Given the description of an element on the screen output the (x, y) to click on. 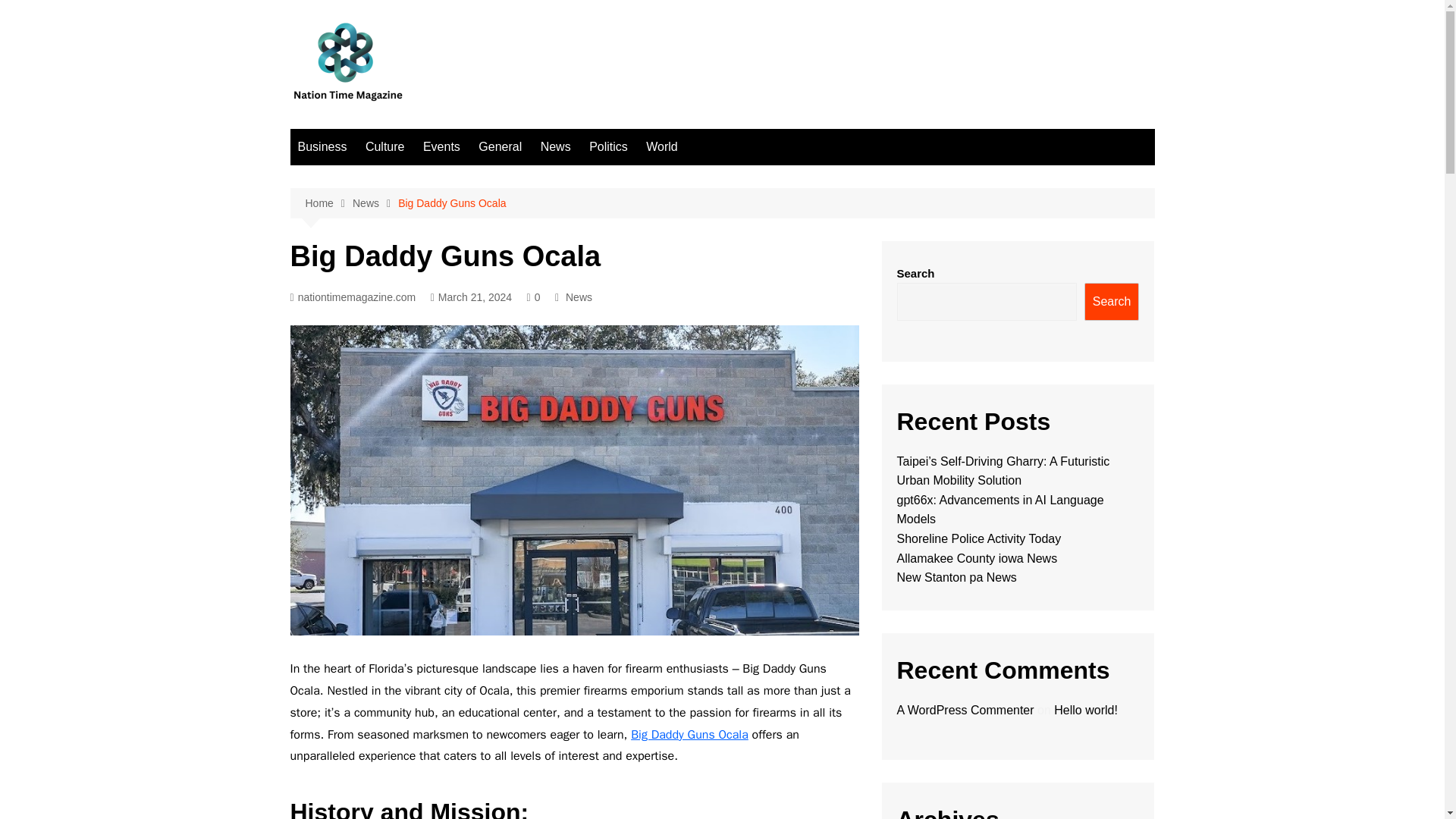
Big Daddy Guns Ocala (689, 734)
General (499, 146)
nationtimemagazine.com (351, 297)
Politics (607, 146)
Big Daddy Guns Ocala (451, 202)
Culture (385, 146)
March 21, 2024 (471, 297)
News (374, 203)
News (555, 146)
World (662, 146)
